Given the description of an element on the screen output the (x, y) to click on. 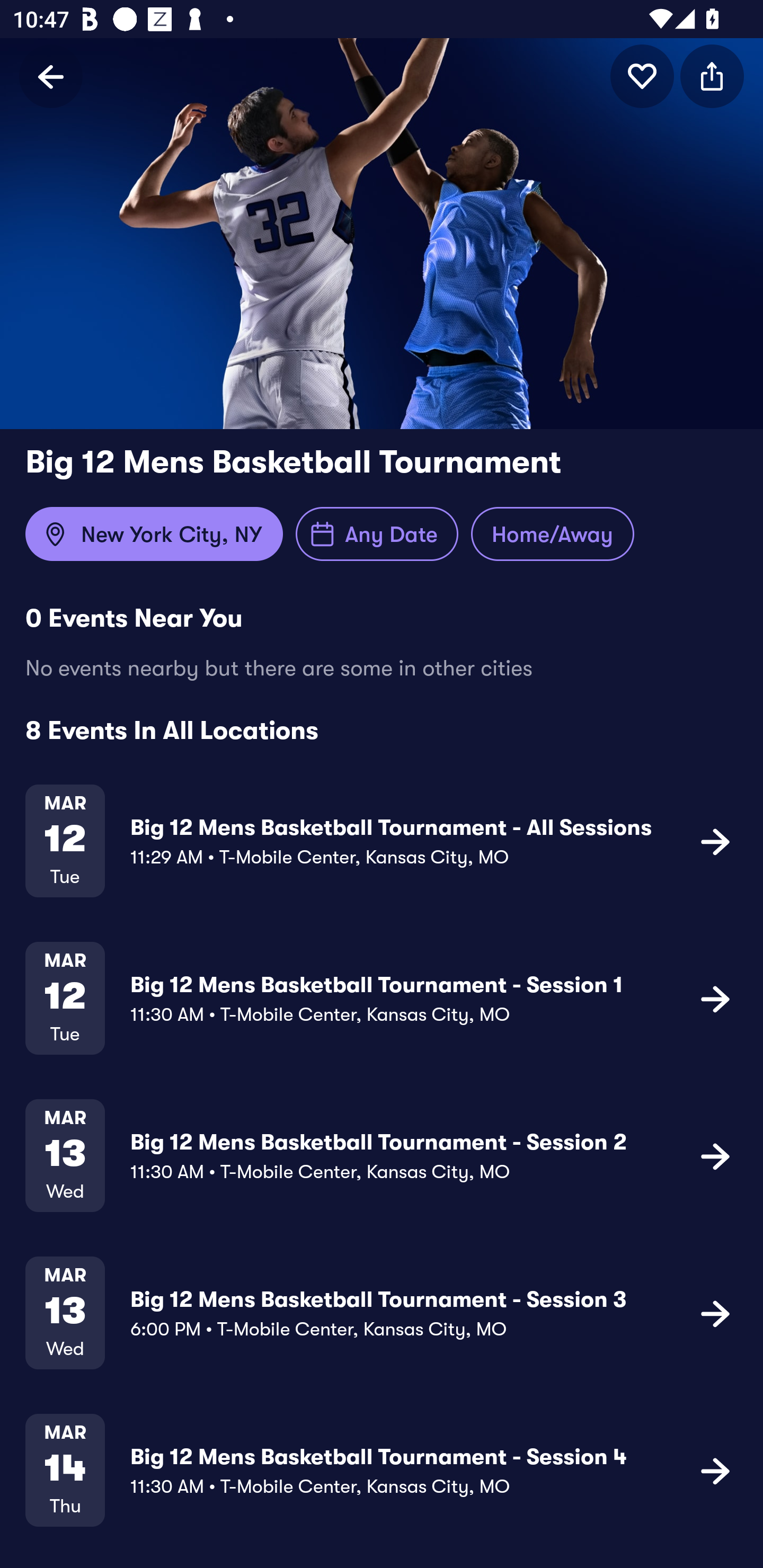
Back (50, 75)
icon button (641, 75)
icon button (711, 75)
New York City, NY (153, 533)
Any Date (377, 533)
Home/Away (552, 533)
icon button (714, 840)
icon button (714, 998)
icon button (714, 1155)
icon button (714, 1312)
icon button (714, 1470)
